Given the description of an element on the screen output the (x, y) to click on. 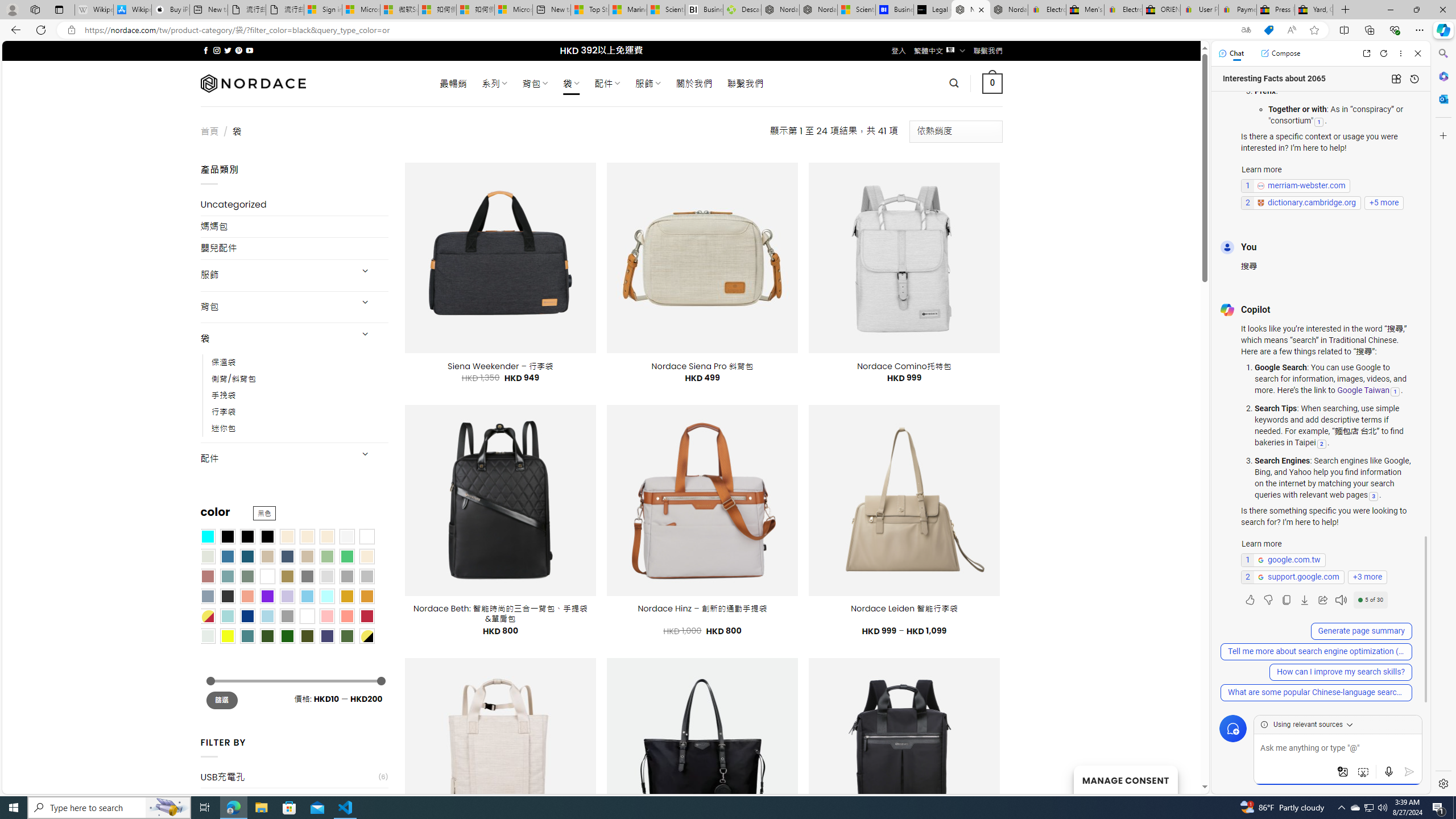
Top Stories - MSN (589, 9)
MANAGE CONSENT (1125, 779)
Cream (327, 536)
Uncategorized (294, 204)
